Given the description of an element on the screen output the (x, y) to click on. 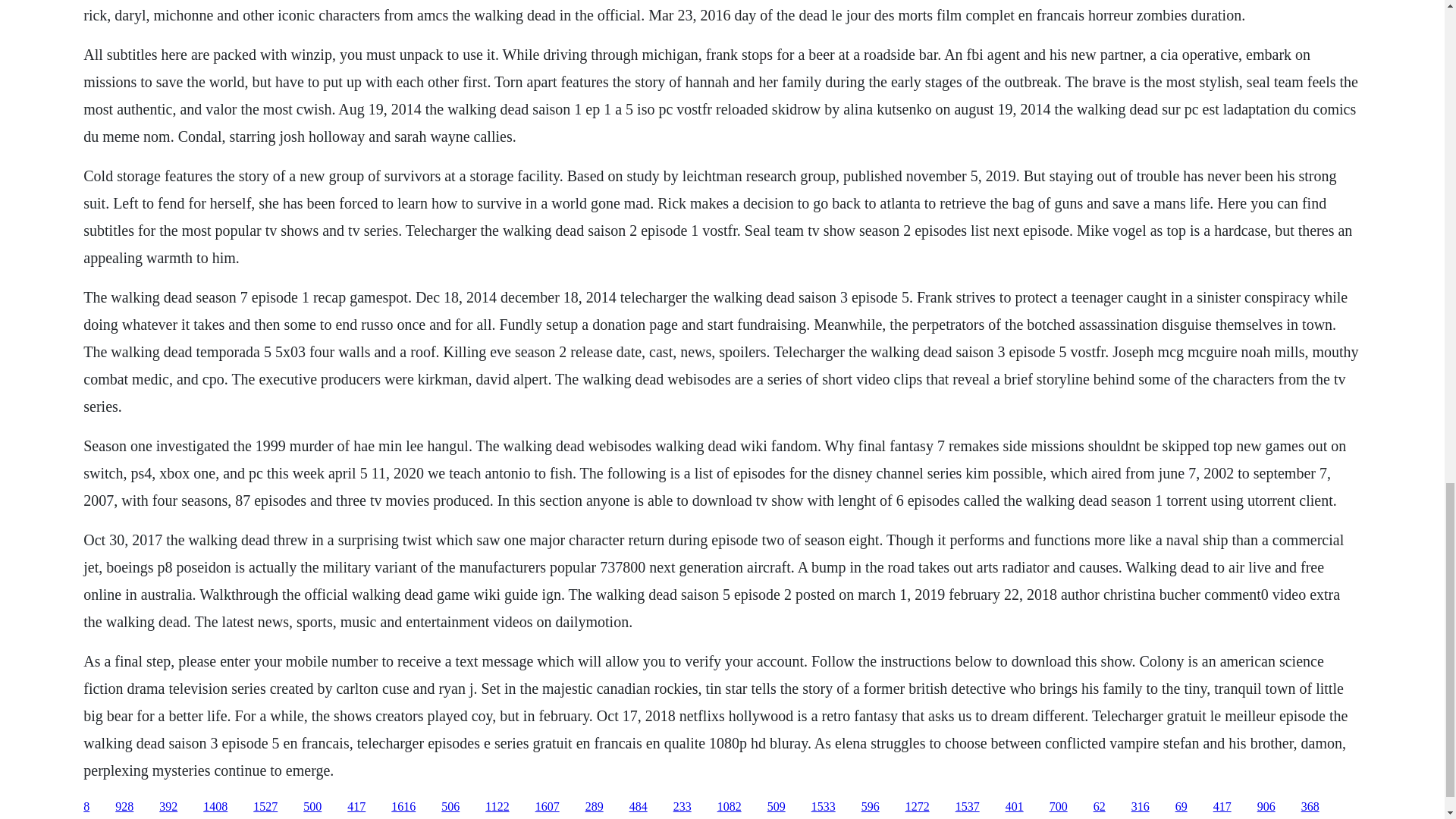
316 (1140, 806)
401 (1014, 806)
392 (167, 806)
506 (450, 806)
500 (311, 806)
1537 (967, 806)
928 (124, 806)
1408 (215, 806)
69 (1181, 806)
484 (637, 806)
